Given the description of an element on the screen output the (x, y) to click on. 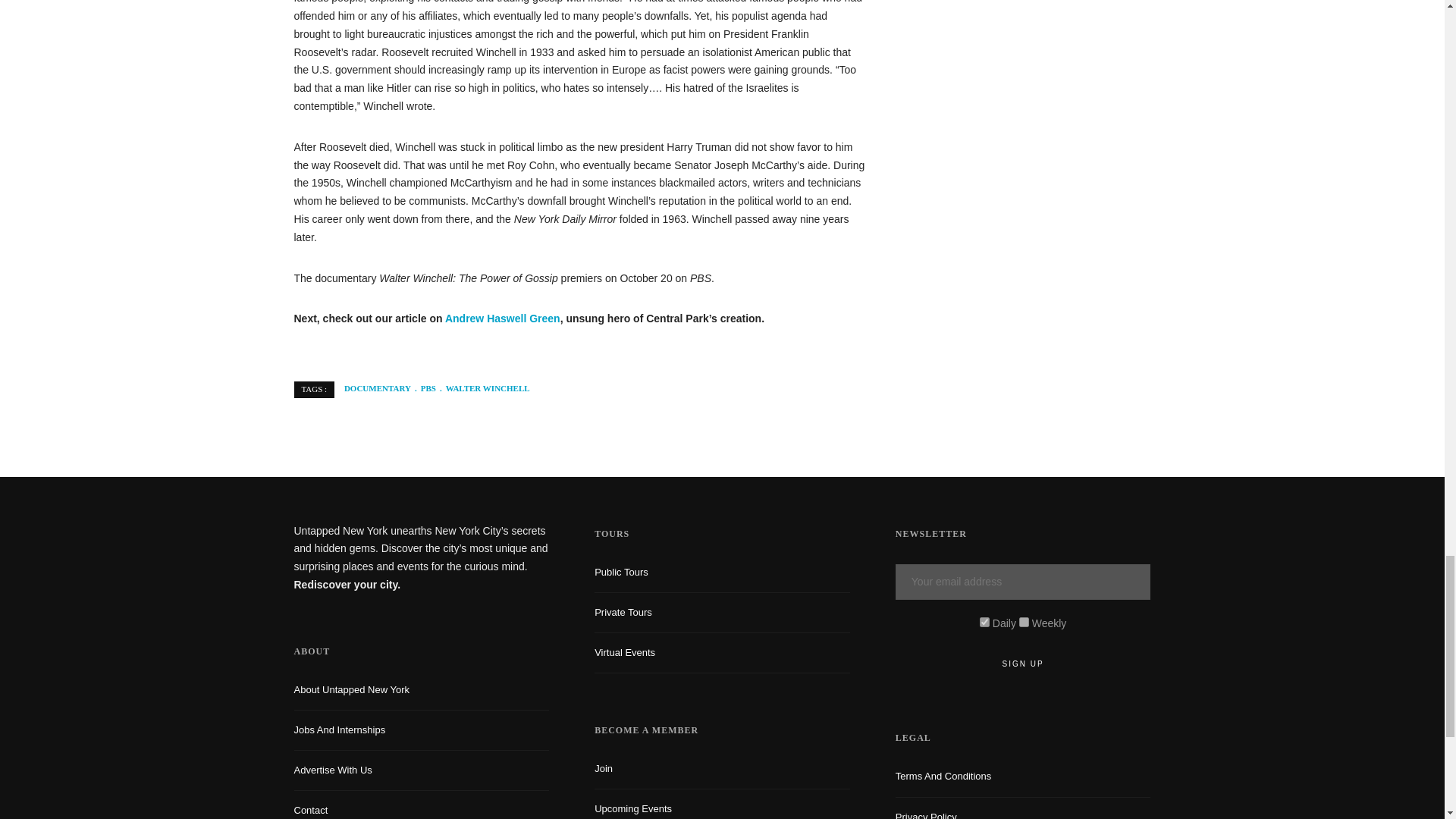
e99a09560c (984, 622)
7cff6a70fd (1024, 622)
Sign up (1023, 663)
